Given the description of an element on the screen output the (x, y) to click on. 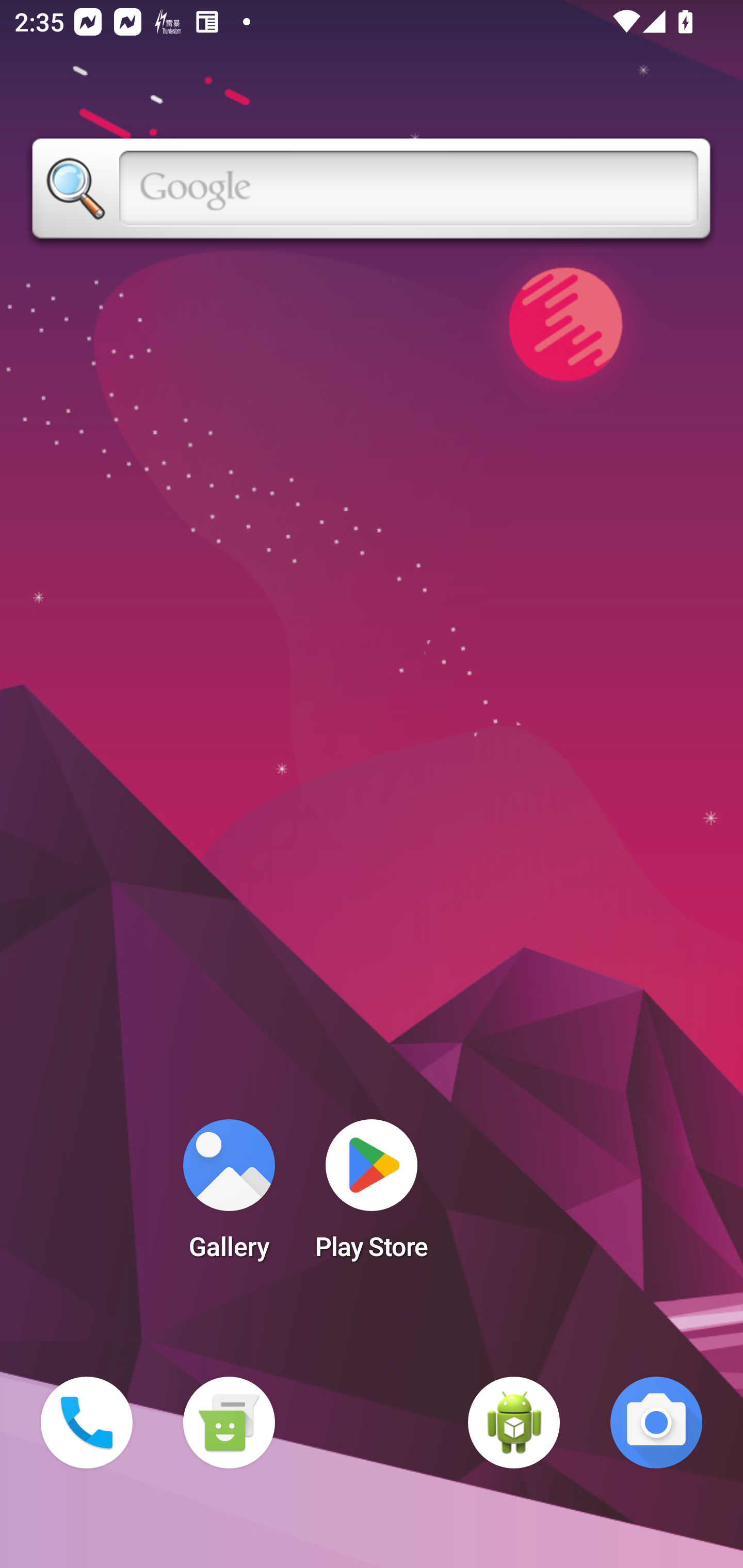
Gallery (228, 1195)
Play Store (371, 1195)
Phone (86, 1422)
Messaging (228, 1422)
WebView Browser Tester (513, 1422)
Camera (656, 1422)
